Given the description of an element on the screen output the (x, y) to click on. 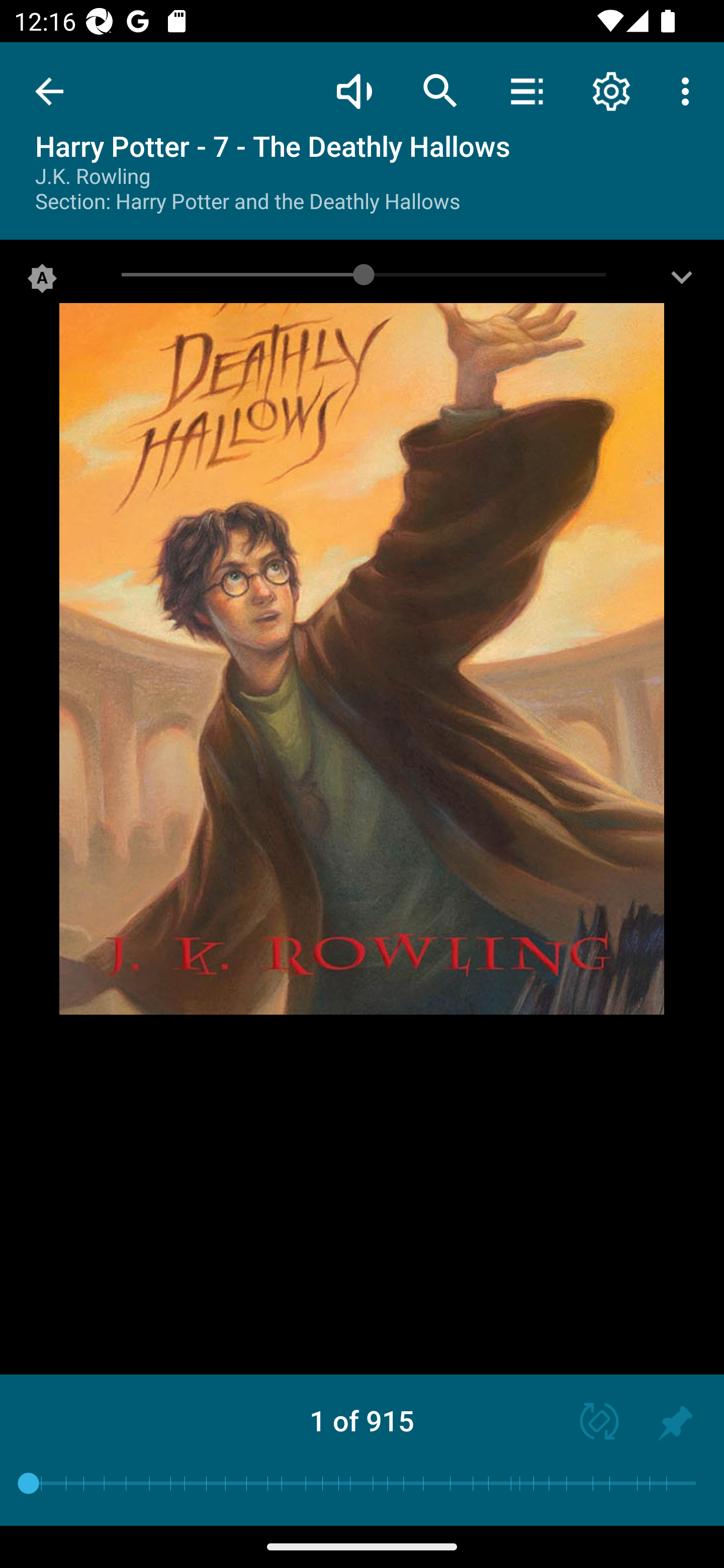
Exit reading (49, 91)
Read aloud (354, 90)
Text search (440, 90)
Contents / Bookmarks / Quotes (526, 90)
Reading settings (611, 90)
More options (688, 90)
Selected screen brightness (42, 281)
Screen brightness settings (681, 281)
1 of 915 (361, 1420)
Screen orientation (590, 1423)
Add to history (674, 1423)
